Given the description of an element on the screen output the (x, y) to click on. 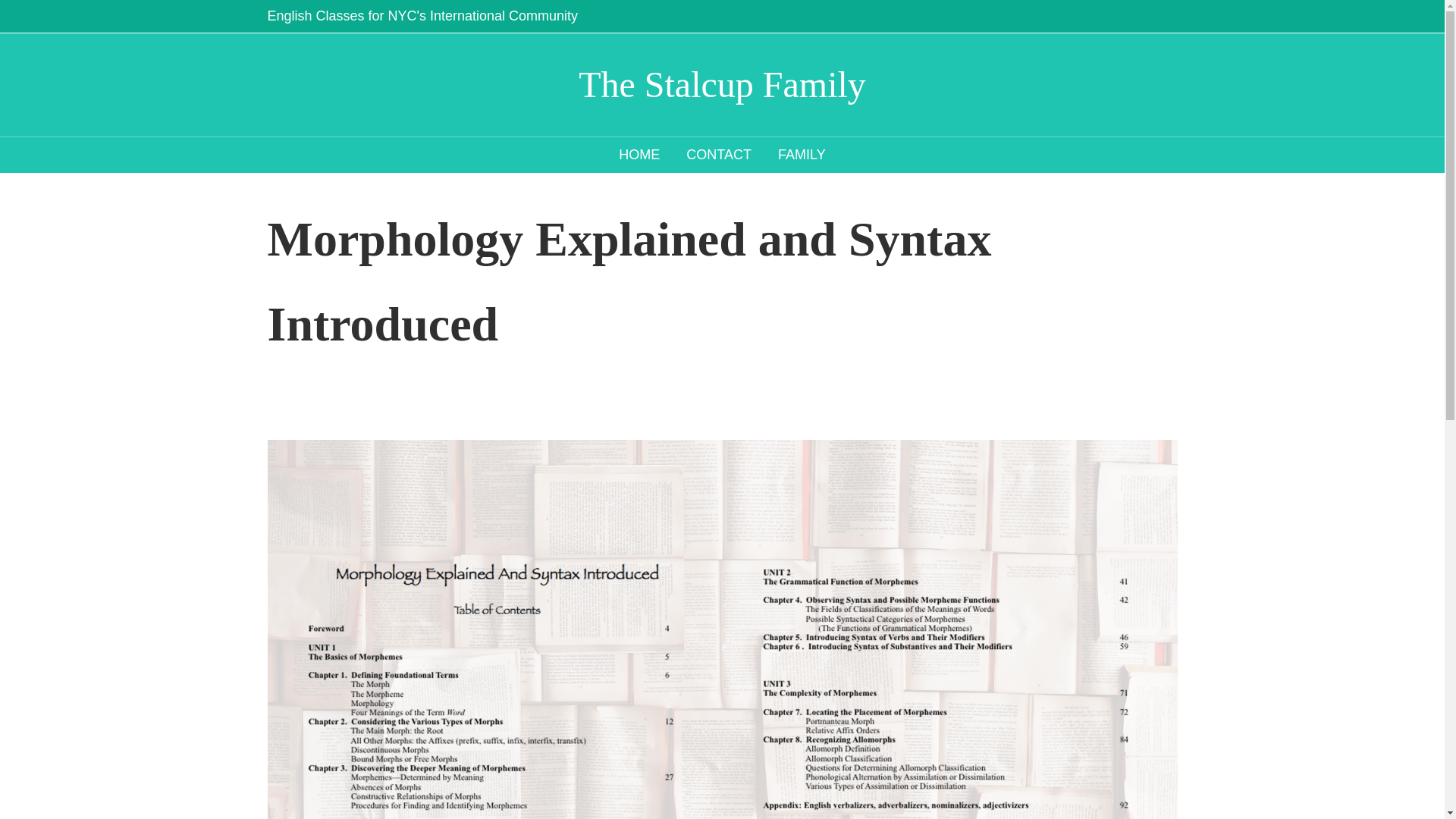
HOME (639, 154)
FAMILY (802, 154)
The Stalcup Family (722, 84)
CONTACT (718, 154)
